Given the description of an element on the screen output the (x, y) to click on. 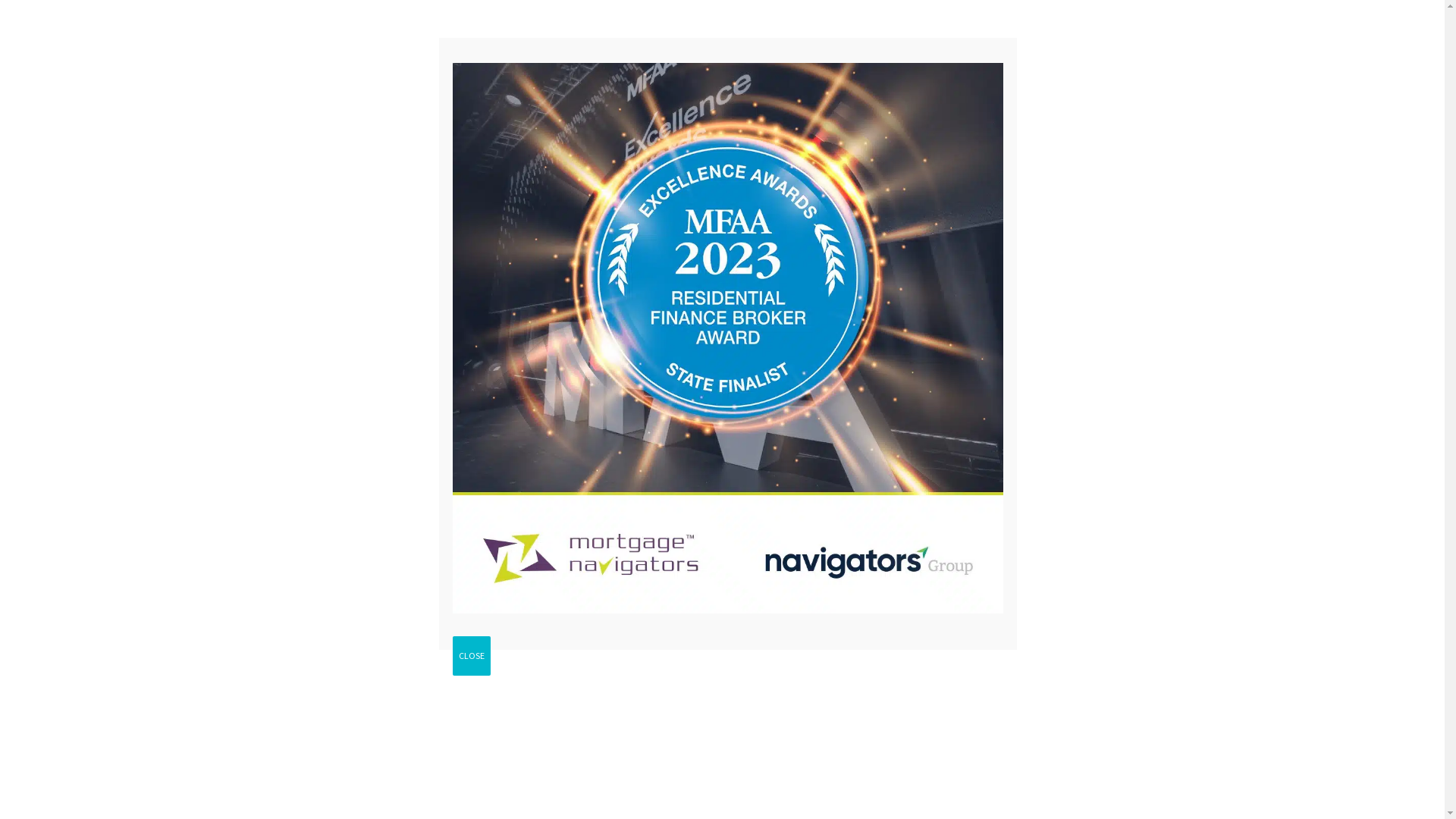
http://www.asic.gov.au/ Element type: text (878, 796)
About Us Element type: text (939, 166)
Comparison Rate Calculator Element type: text (1018, 480)
Loan Repayment Calculator Element type: text (398, 462)
Guides, Articles & How-tos Element type: text (398, 394)
Contact Us Element type: text (1027, 166)
Comparison Rate Calculator Element type: text (398, 497)
Leasing Calculator Element type: text (992, 512)
Stamp Duty Calculator Element type: text (1003, 576)
Investors Element type: text (659, 167)
https://www.afca.org.au/ Element type: text (848, 755)
Get in Touch Element type: text (1055, 244)
contact us Element type: text (647, 521)
http://www.fbaa.com.au/ Element type: text (868, 735)
Reverse Mortgage Calculator Element type: text (398, 566)
Home Element type: text (332, 319)
For more information please see our COVID-19 Policy Element type: text (1049, 21)
First Home Buyers Element type: text (540, 167)
Download PDF Element type: text (368, 791)
1300 134 898
enquiries@mortgagenavigators.com.au Element type: text (1024, 96)
Home Element type: text (325, 166)
Reverse Mortgage Calculator Element type: text (1021, 544)
Home Loans Element type: text (412, 167)
Loan Repayment Calculator Element type: text (1017, 448)
Stamp Duty Calculator Element type: text (398, 428)
Business Element type: text (752, 167)
https://www.mfaa.com.au/ Element type: text (871, 714)
Leasing Calculator Element type: text (398, 531)
CLOSE Element type: text (471, 655)
http://www.aim.com.au/ Element type: text (809, 776)
Resources Element type: text (847, 167)
